Given the description of an element on the screen output the (x, y) to click on. 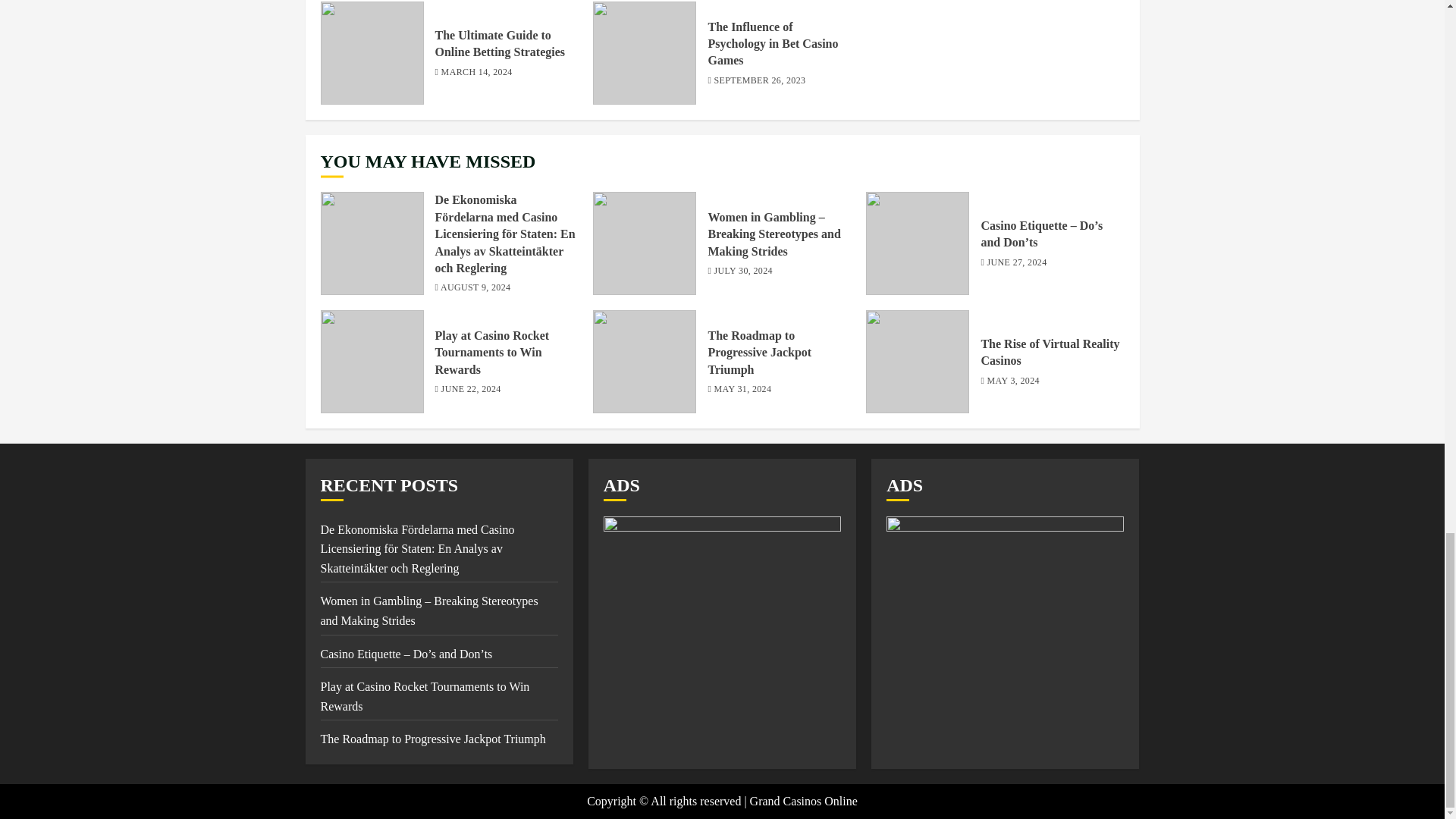
The Roadmap to Progressive Jackpot Triumph (643, 361)
The Rise of Virtual Reality Casinos (1049, 352)
The Roadmap to Progressive Jackpot Triumph (758, 352)
The Ultimate Guide to Online Betting Strategies (500, 43)
The Influence of Psychology in Bet Casino Games (772, 43)
Play at Casino Rocket Tournaments to Win Rewards (371, 361)
The Roadmap to Progressive Jackpot Triumph (432, 739)
The Ultimate Guide to Online Betting Strategies (371, 52)
The Rise of Virtual Reality Casinos (917, 361)
Play at Casino Rocket Tournaments to Win Rewards (492, 352)
